Given the description of an element on the screen output the (x, y) to click on. 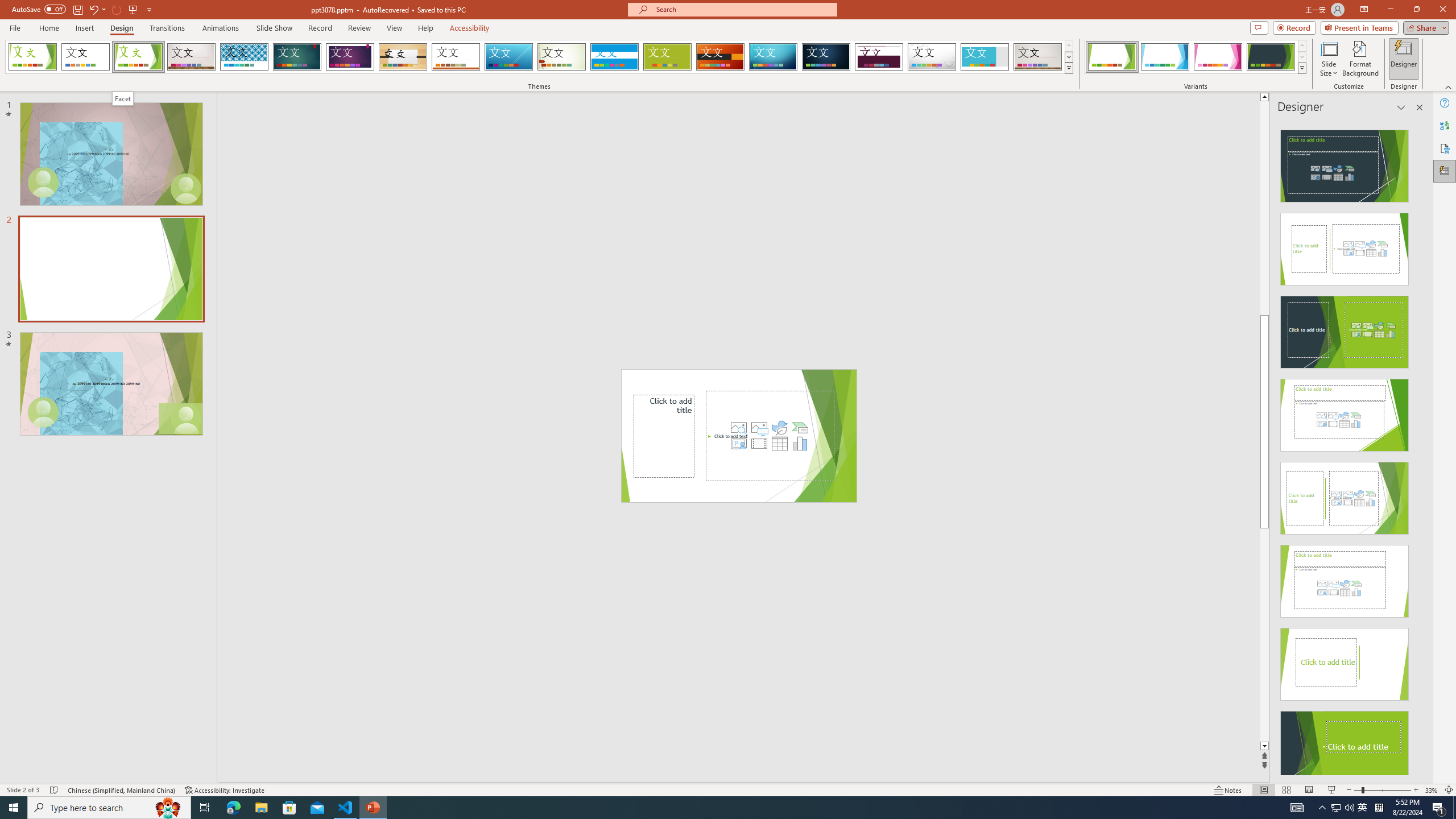
Facet Variant 3 (1217, 56)
Wisp (561, 56)
Dividend (879, 56)
Berlin (720, 56)
